Given the description of an element on the screen output the (x, y) to click on. 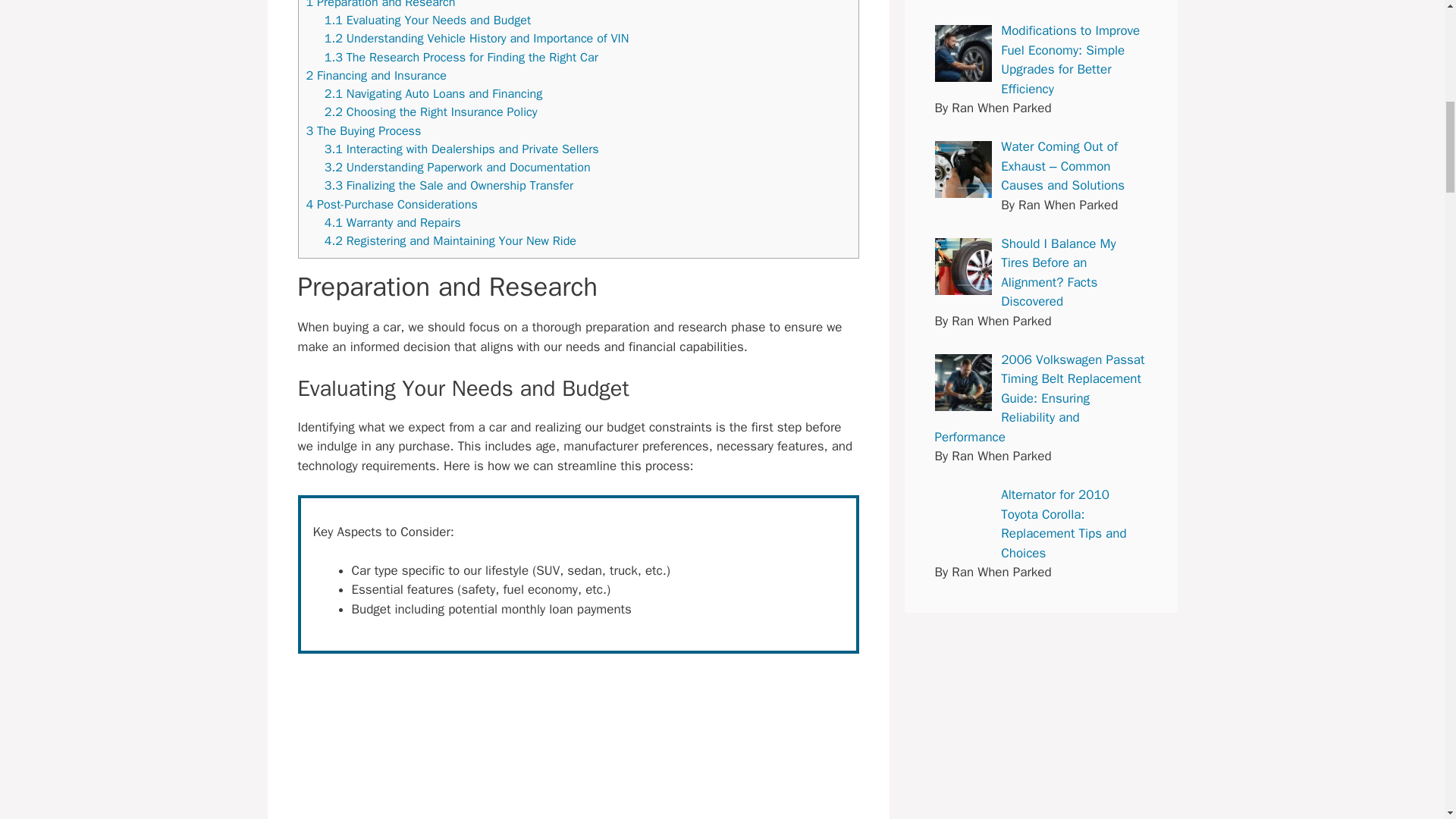
2.1 Navigating Auto Loans and Financing (433, 93)
1.1 Evaluating Your Needs and Budget (427, 19)
3 The Buying Process (363, 130)
1.2 Understanding Vehicle History and Importance of VIN (476, 37)
2.2 Choosing the Right Insurance Policy (430, 111)
3.1 Interacting with Dealerships and Private Sellers (461, 148)
1 Preparation and Research (380, 4)
2 Financing and Insurance (375, 75)
1.3 The Research Process for Finding the Right Car (461, 57)
